Given the description of an element on the screen output the (x, y) to click on. 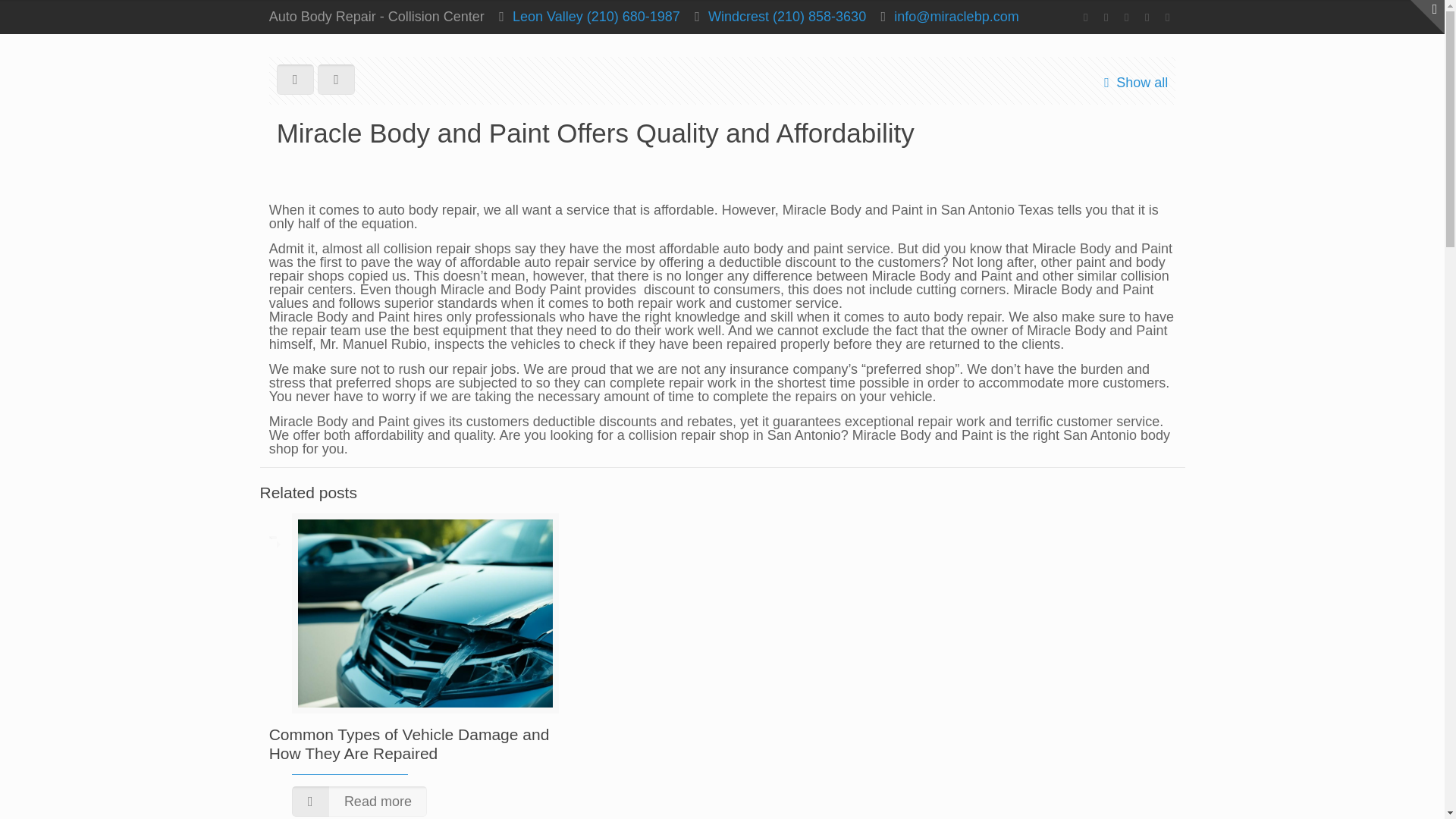
Read more (359, 801)
Common Types of Vehicle Damage and How They Are Repaired (409, 743)
Facebook (1085, 16)
Instagram (1146, 16)
Twitter (1126, 16)
Show all (1132, 82)
